Given the description of an element on the screen output the (x, y) to click on. 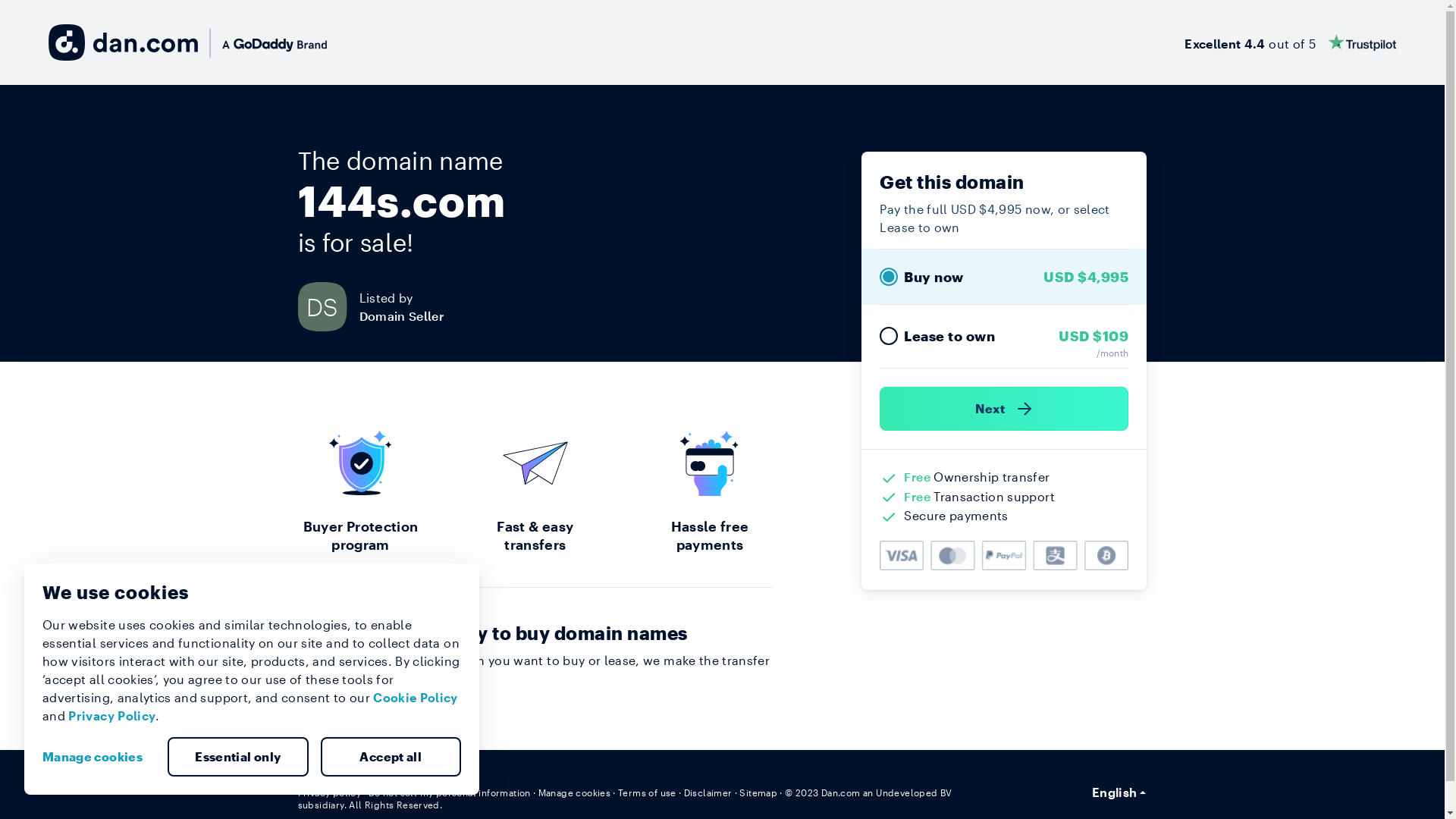
Privacy Policy Element type: text (111, 715)
Manage cookies Element type: text (574, 792)
Do not sell my personal information Element type: text (449, 792)
Sitemap Element type: text (758, 792)
Accept all Element type: text (390, 756)
Essential only Element type: text (237, 756)
Disclaimer Element type: text (708, 792)
English Element type: text (1119, 792)
Manage cookies Element type: text (98, 756)
Next
) Element type: text (1003, 408)
Excellent 4.4 out of 5 Element type: text (1290, 42)
Terms of use Element type: text (647, 792)
Privacy policy Element type: text (328, 792)
Cookie Policy Element type: text (415, 697)
